Given the description of an element on the screen output the (x, y) to click on. 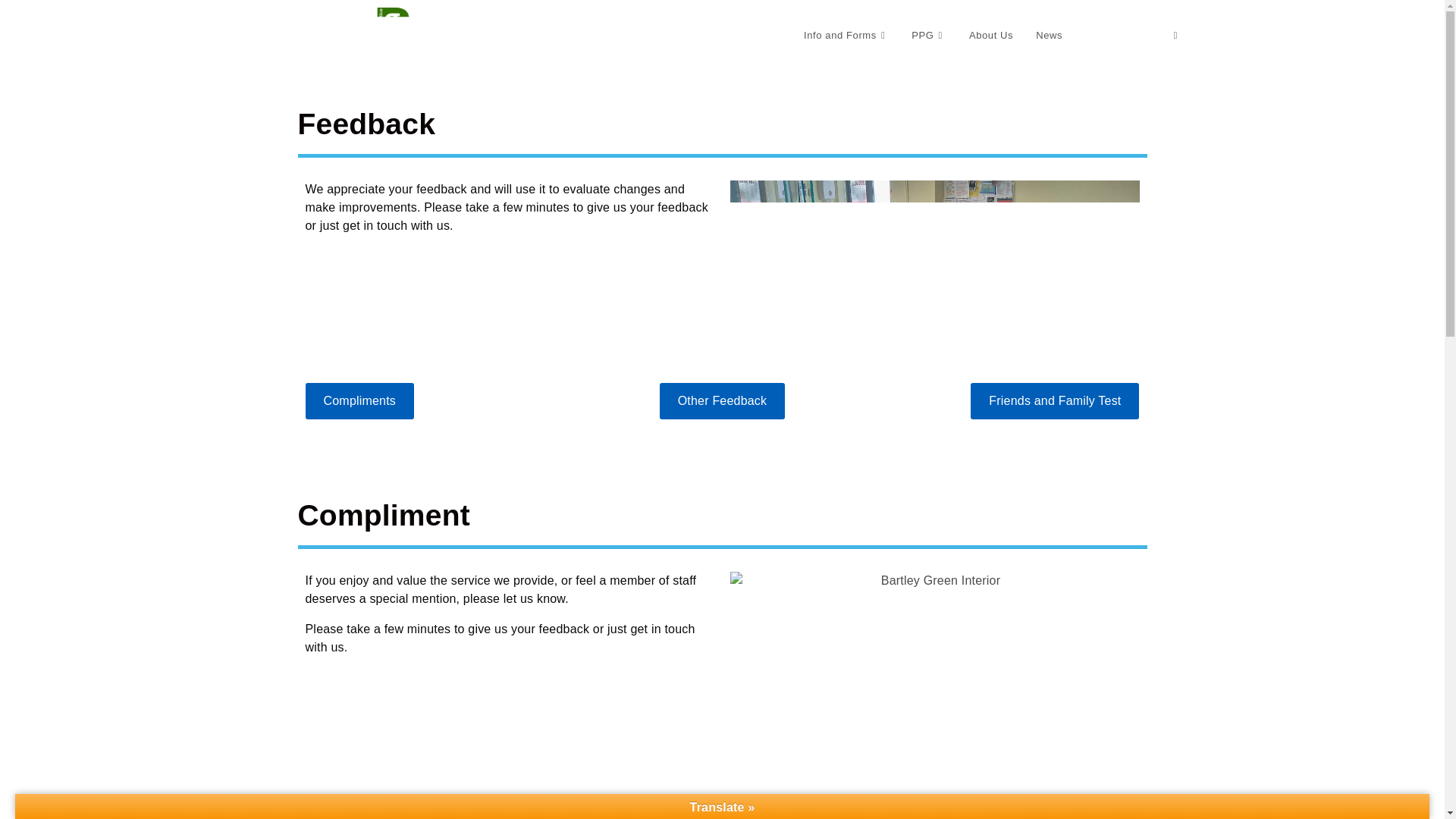
Info and Forms (845, 35)
About Us (991, 35)
Contact Us (1117, 35)
PPG (928, 35)
